Given the description of an element on the screen output the (x, y) to click on. 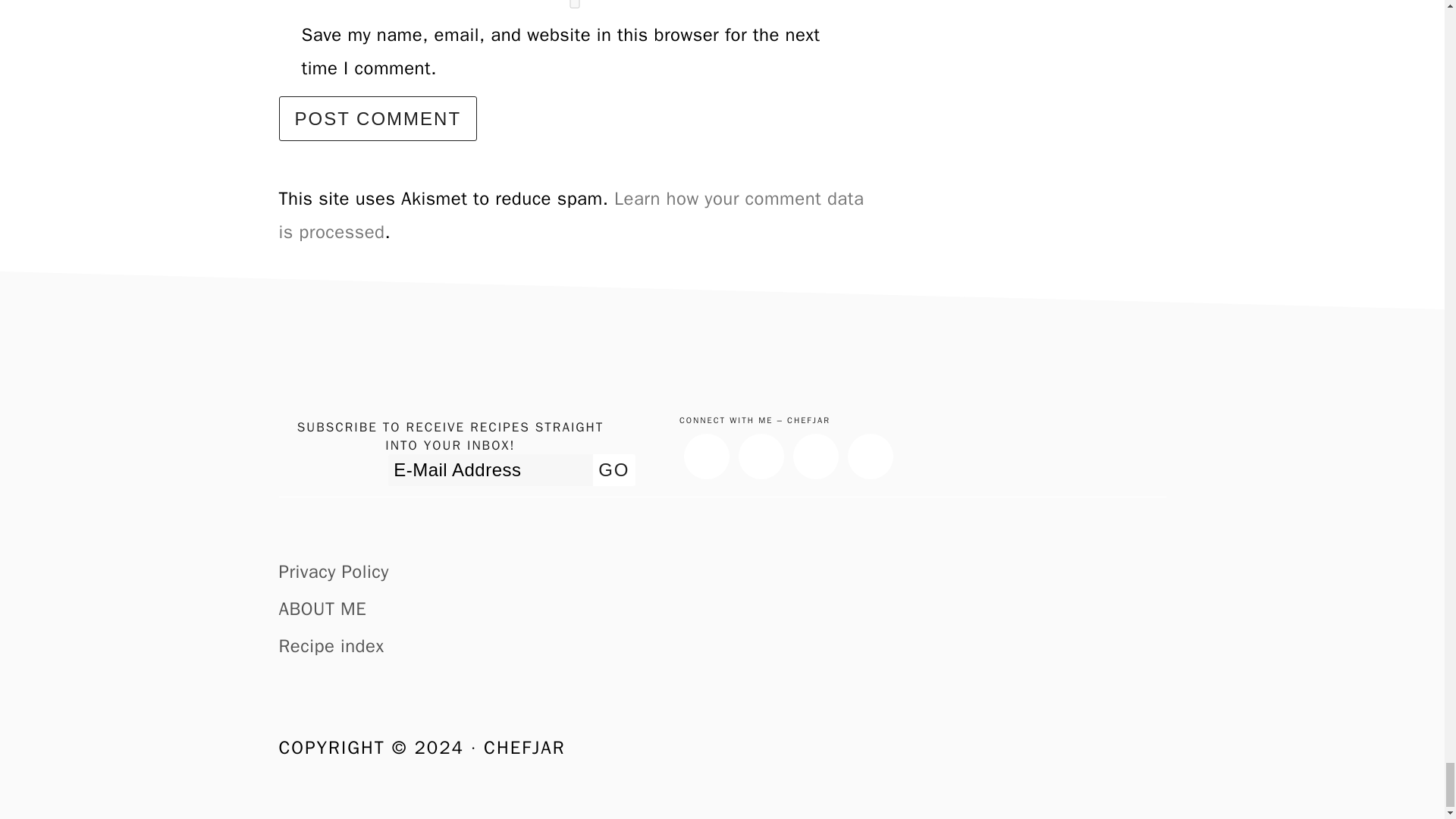
Post Comment (378, 118)
yes (574, 4)
Go (613, 470)
